Given the description of an element on the screen output the (x, y) to click on. 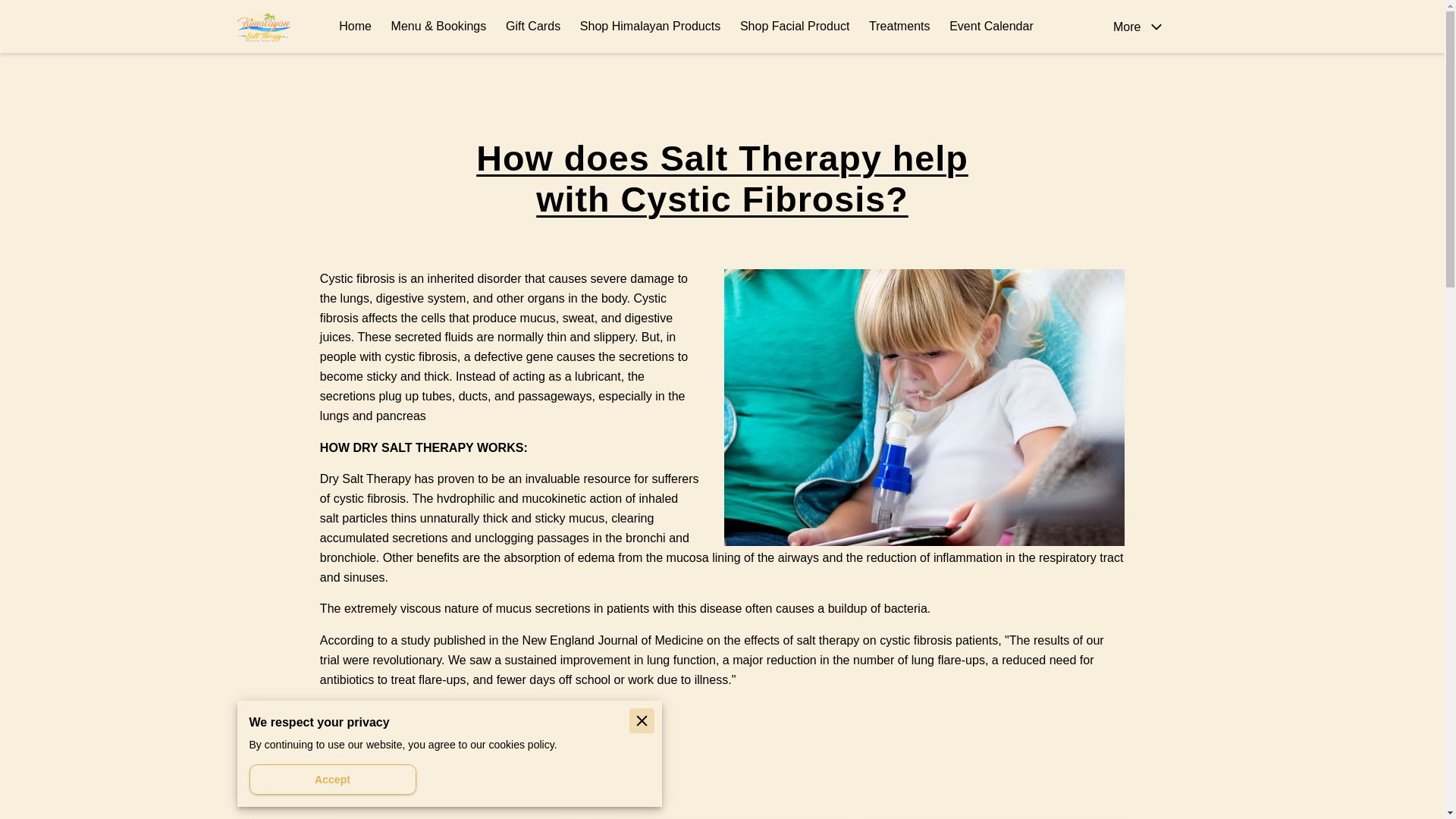
Shop Himalayan Products (649, 26)
More (1142, 26)
Treatments (899, 26)
Accept (331, 779)
Gift Cards (532, 26)
Shop Facial Product (794, 26)
Event Calendar (991, 26)
